Given the description of an element on the screen output the (x, y) to click on. 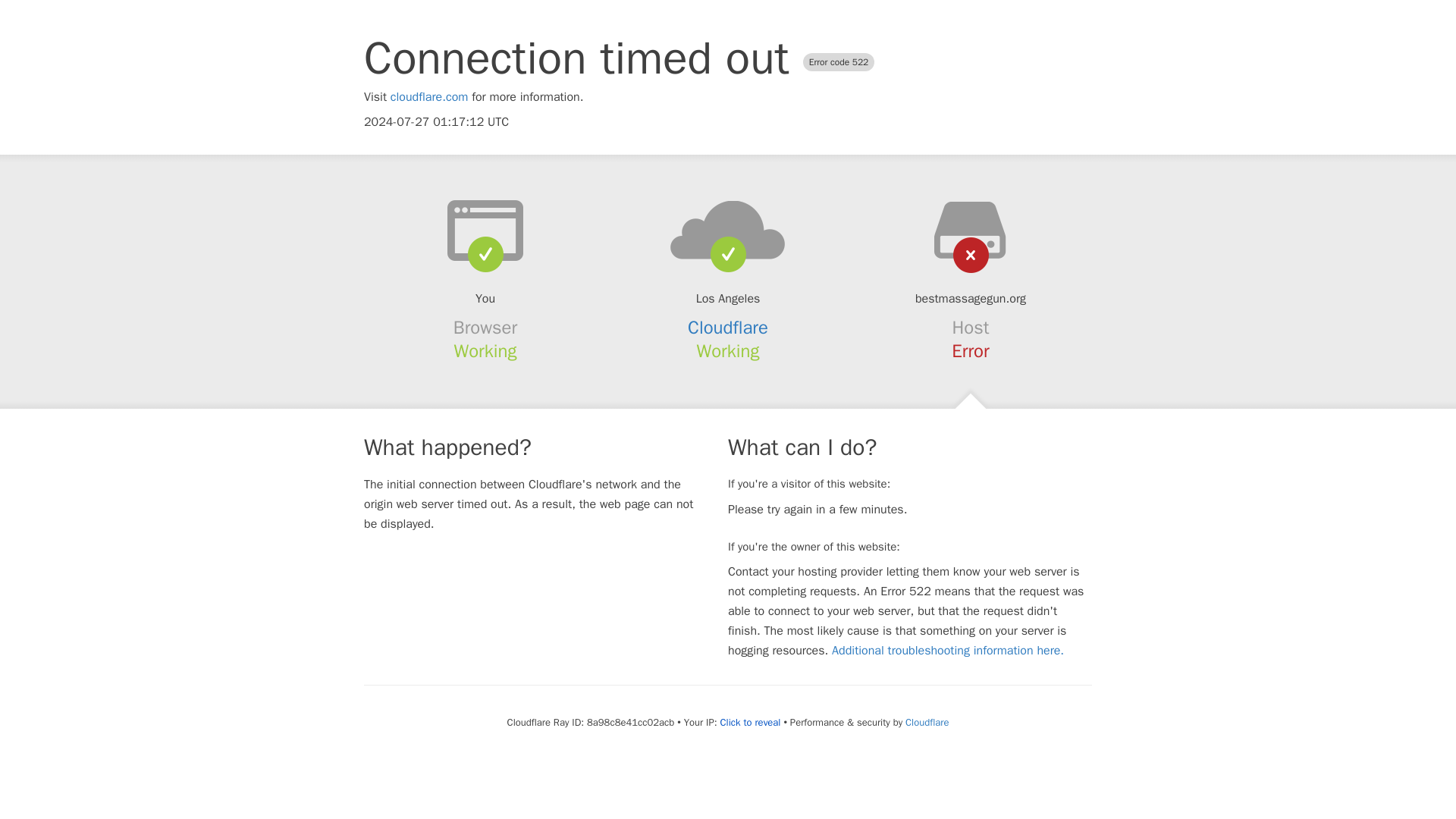
Cloudflare (727, 327)
Cloudflare (927, 721)
cloudflare.com (429, 96)
Click to reveal (750, 722)
Additional troubleshooting information here. (947, 650)
